Given the description of an element on the screen output the (x, y) to click on. 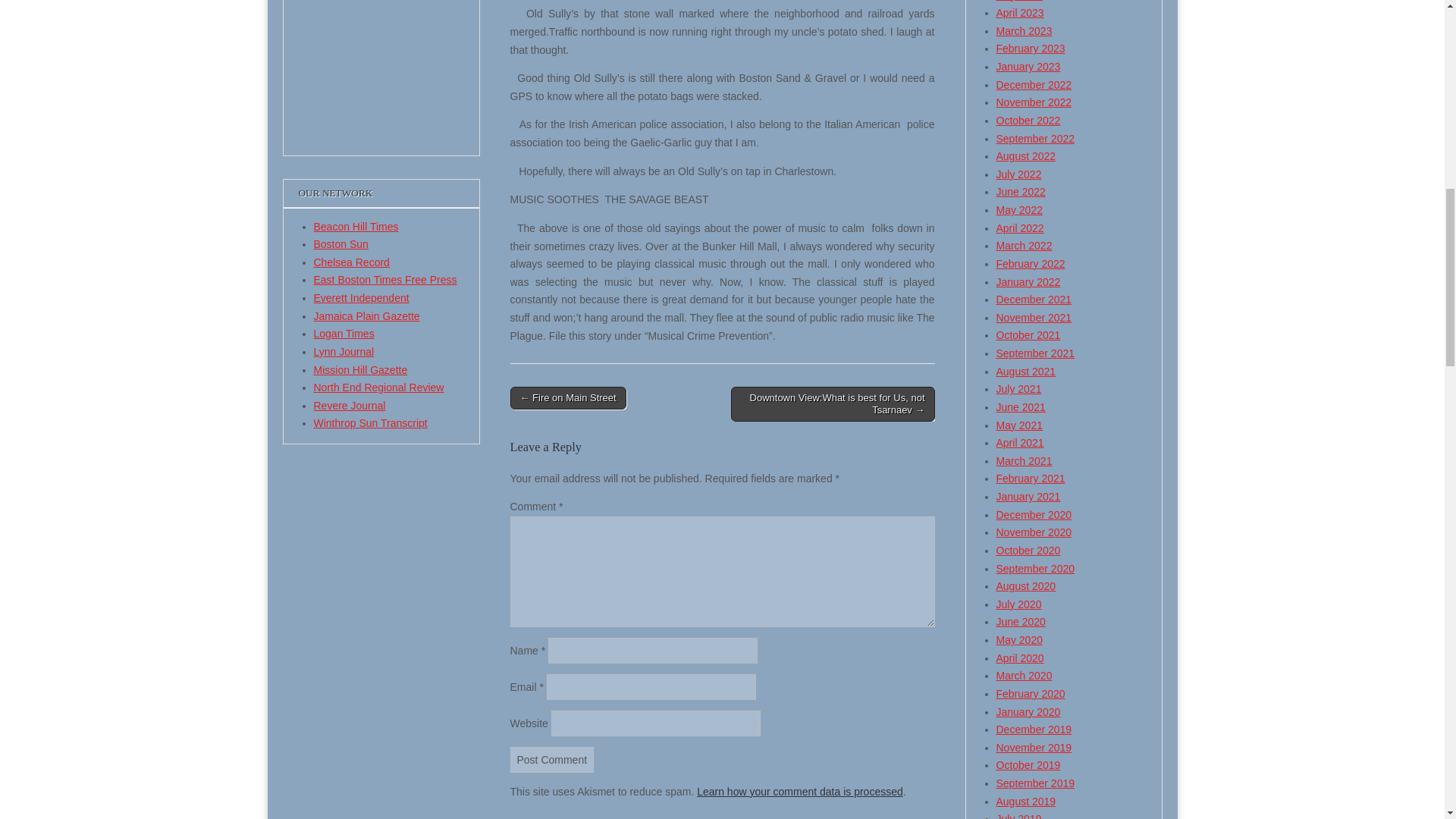
Jamaica Plain Gazette (367, 316)
Post Comment (551, 759)
Lynn Journal (344, 351)
Everett Independent (361, 297)
North End Regional Review (379, 387)
Winthrop Sun Transcript (371, 422)
Logan Times (344, 333)
Post Comment (551, 759)
Learn how your comment data is processed (799, 791)
Boston Sun (341, 244)
Chelsea Record (352, 262)
Beacon Hill Times (356, 226)
Mission Hill Gazette (360, 369)
East Boston Times Free Press (385, 279)
Revere Journal (349, 405)
